Given the description of an element on the screen output the (x, y) to click on. 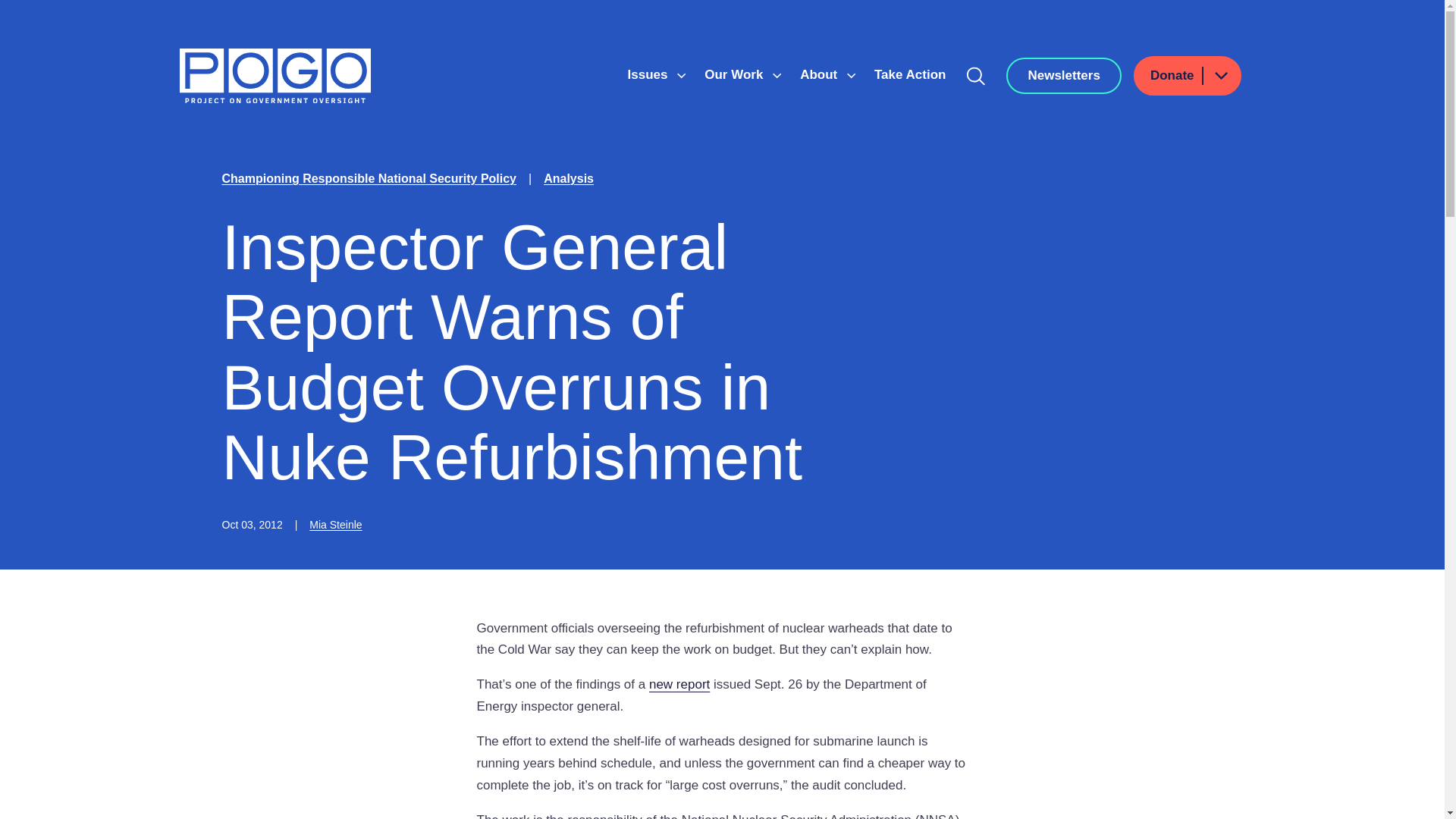
Issues (649, 74)
About (820, 74)
Show submenu for About (851, 75)
Show submenu for Our Work (777, 75)
Take Action (909, 74)
Our Work (735, 74)
Show submenu for Donate (1220, 75)
Newsletters (1063, 75)
Show submenu for Issues (681, 75)
Search (976, 75)
Home (274, 75)
Donate (1187, 75)
